Given the description of an element on the screen output the (x, y) to click on. 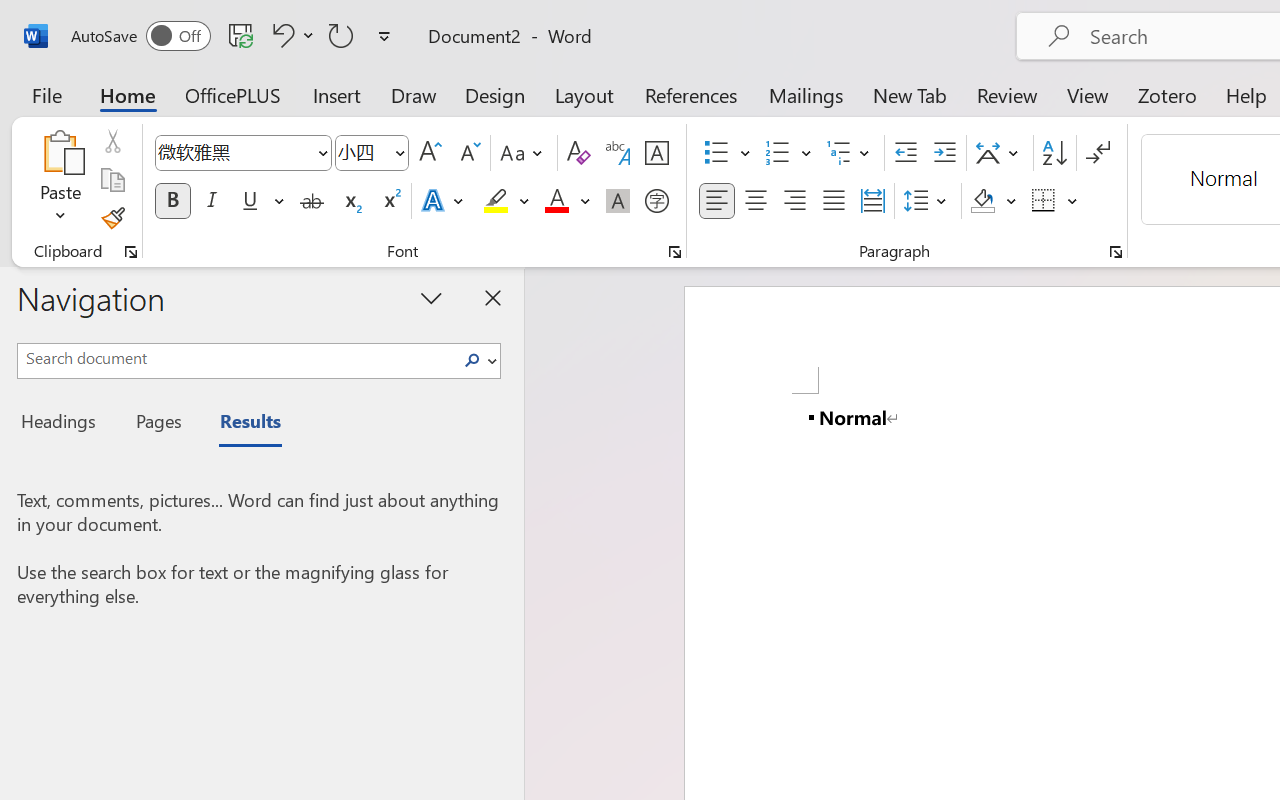
Paste (60, 151)
Align Left (716, 201)
Shrink Font (468, 153)
Multilevel List (850, 153)
Search (471, 360)
Enclose Characters... (656, 201)
Character Shading (618, 201)
Align Right (794, 201)
Paragraph... (1115, 252)
Design (495, 94)
Distributed (872, 201)
Text Highlight Color (506, 201)
Quick Access Toolbar (233, 36)
Line and Paragraph Spacing (927, 201)
File Tab (46, 94)
